Given the description of an element on the screen output the (x, y) to click on. 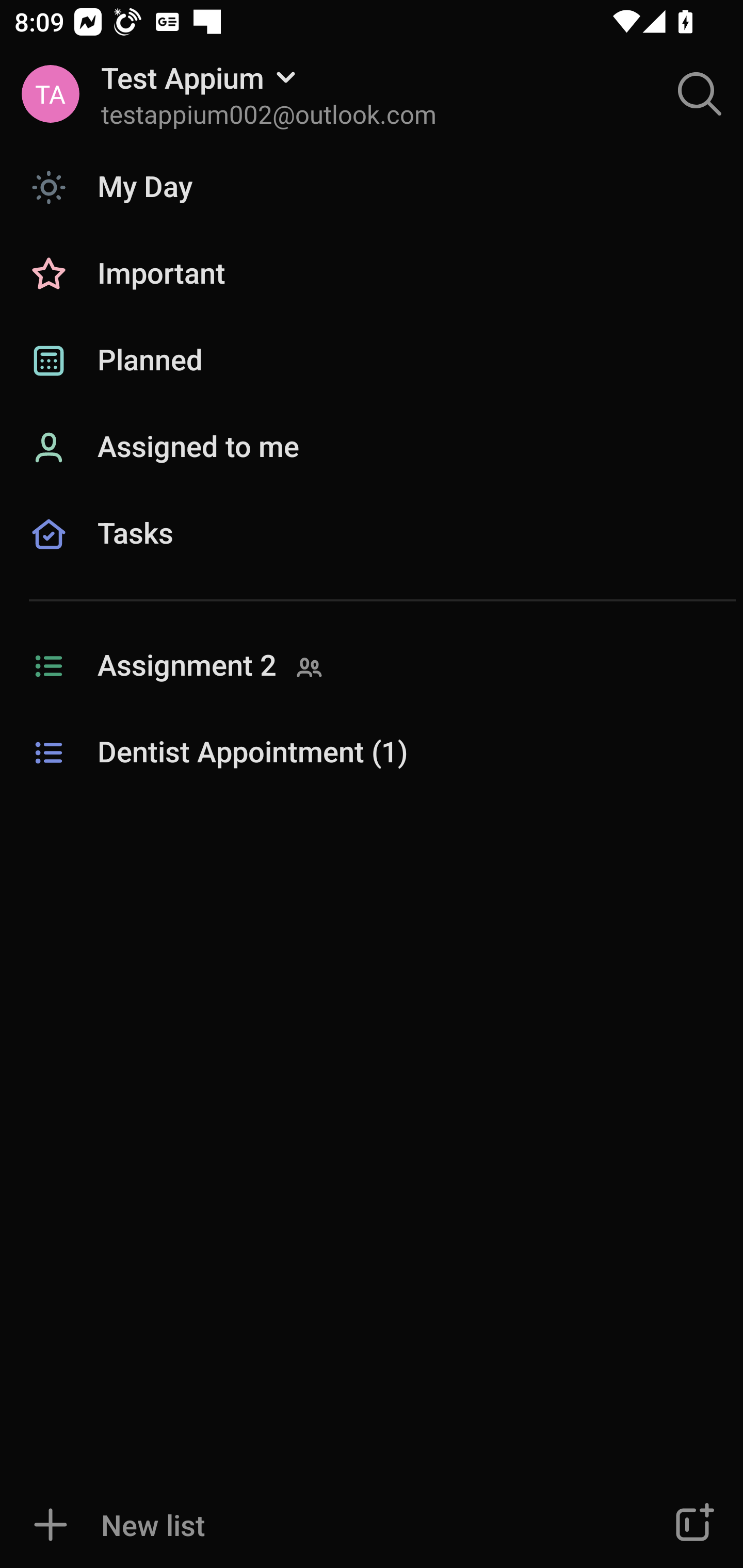
Enter search (699, 93)
My Day, 0 tasks My Day (371, 187)
Important, 0 tasks Important (371, 274)
Planned, 0 tasks Planned (371, 361)
Assigned to me, 0 tasks Assigned to me (371, 447)
Tasks (371, 556)
Shared list. Assignment 2 Assignment 2 Shared list (371, 666)
Dentist Appointment (1) (371, 753)
New list (312, 1524)
Create group (692, 1524)
